Given the description of an element on the screen output the (x, y) to click on. 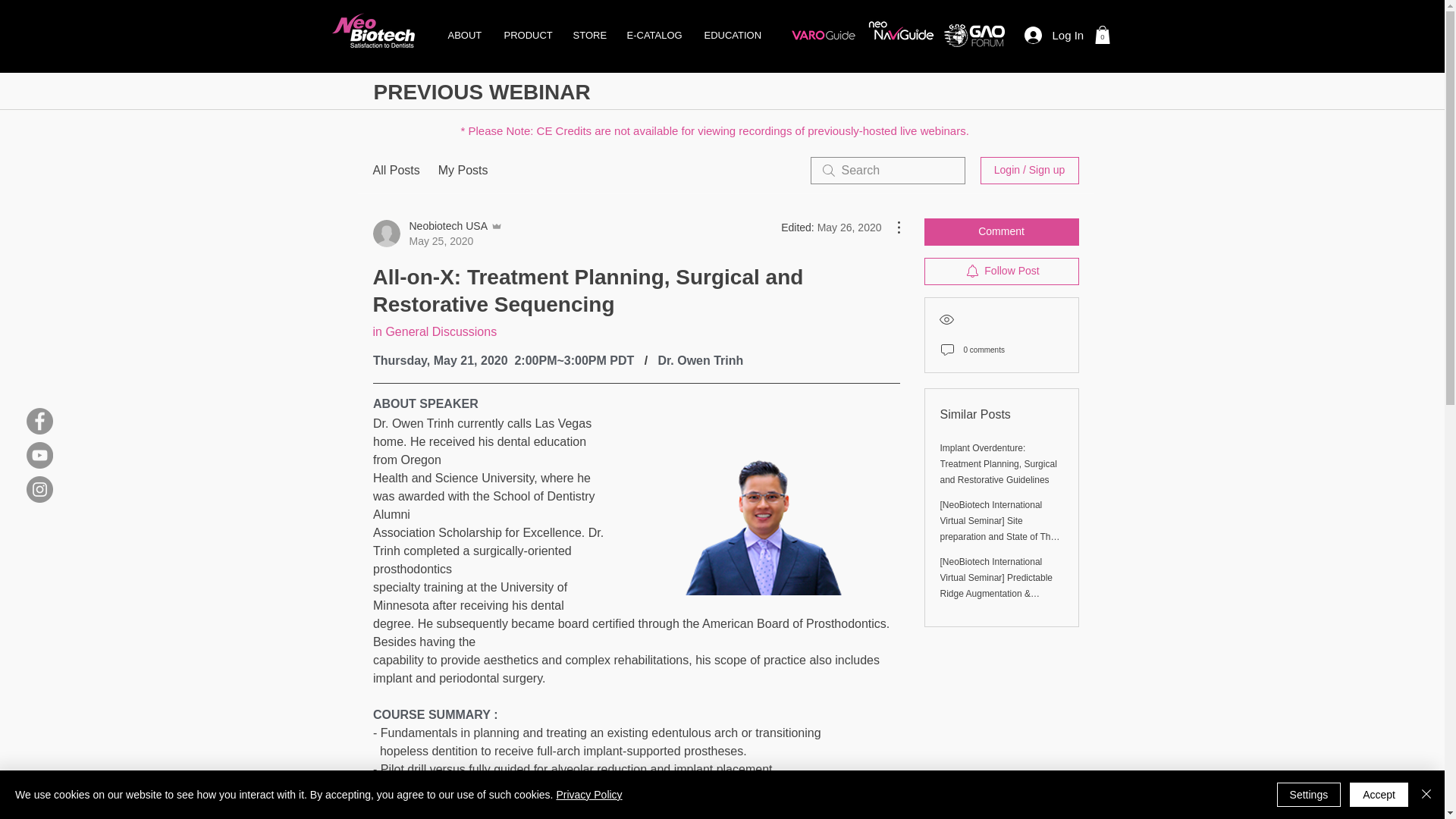
E-CATALOG (654, 35)
Log In (1053, 34)
PRODUCT (527, 35)
STORE (587, 35)
